Given the description of an element on the screen output the (x, y) to click on. 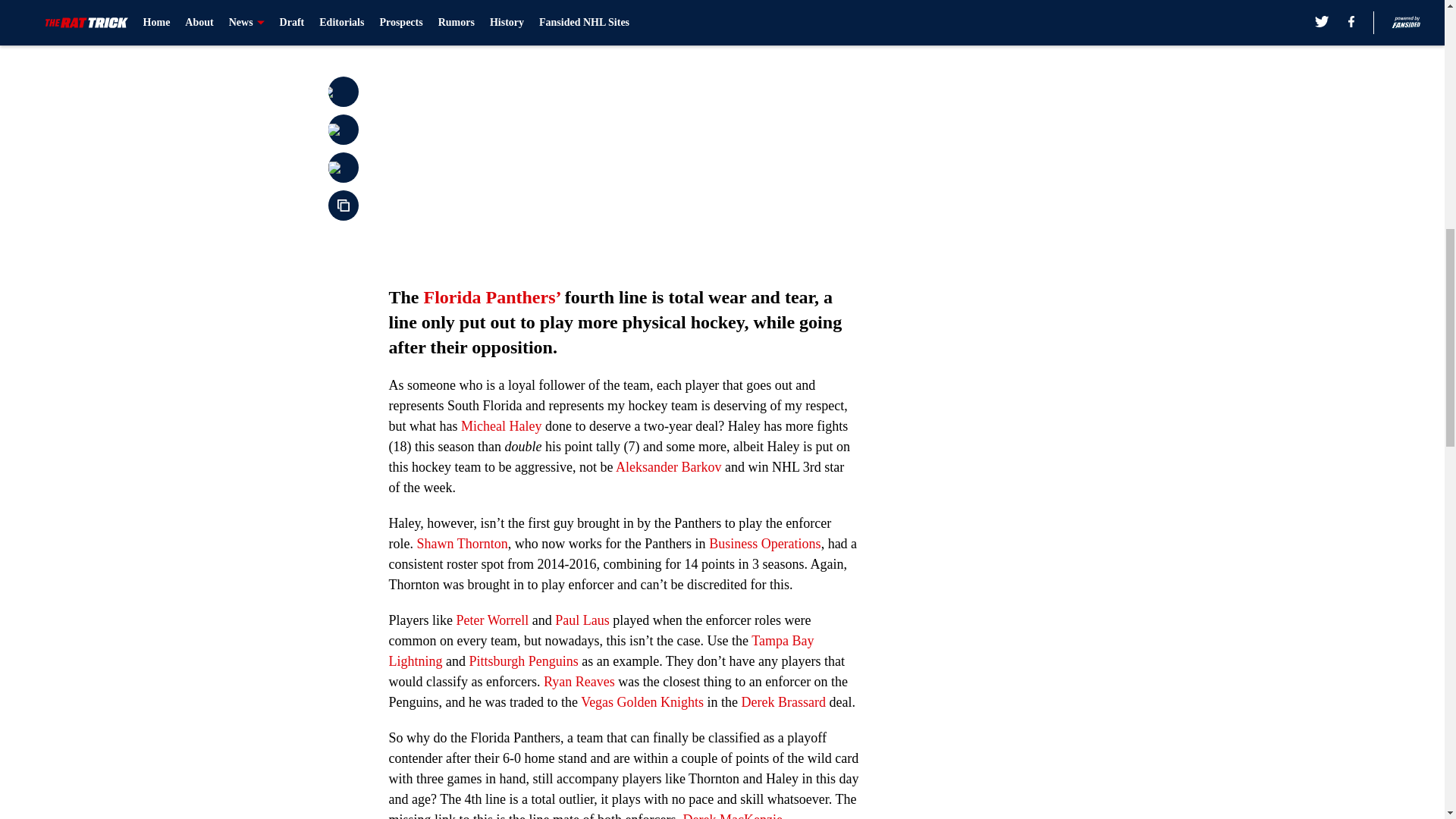
Tampa Bay Lightning (600, 651)
Ryan Reaves (578, 681)
Paul Laus (582, 620)
Derek MacKenzie (731, 815)
Micheal Haley (501, 426)
Shawn Thornton (461, 543)
Aleksander Barkov (667, 467)
Pittsburgh Penguins (523, 661)
Derek Brassard (781, 702)
Vegas Golden Knights (641, 702)
